Given the description of an element on the screen output the (x, y) to click on. 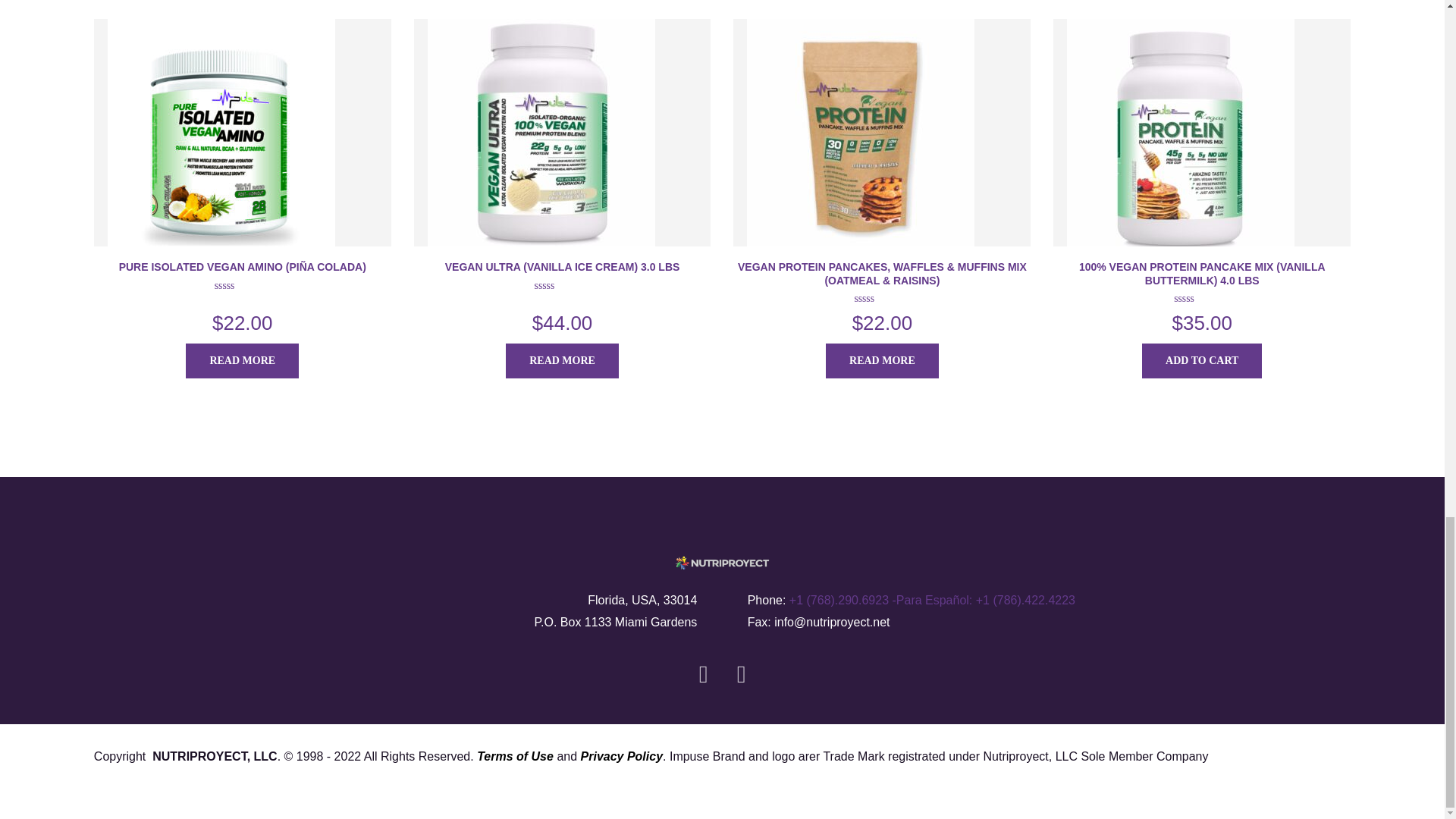
Not yet rated (242, 285)
Not yet rated (881, 298)
Not yet rated (1201, 298)
Not yet rated (562, 285)
